Given the description of an element on the screen output the (x, y) to click on. 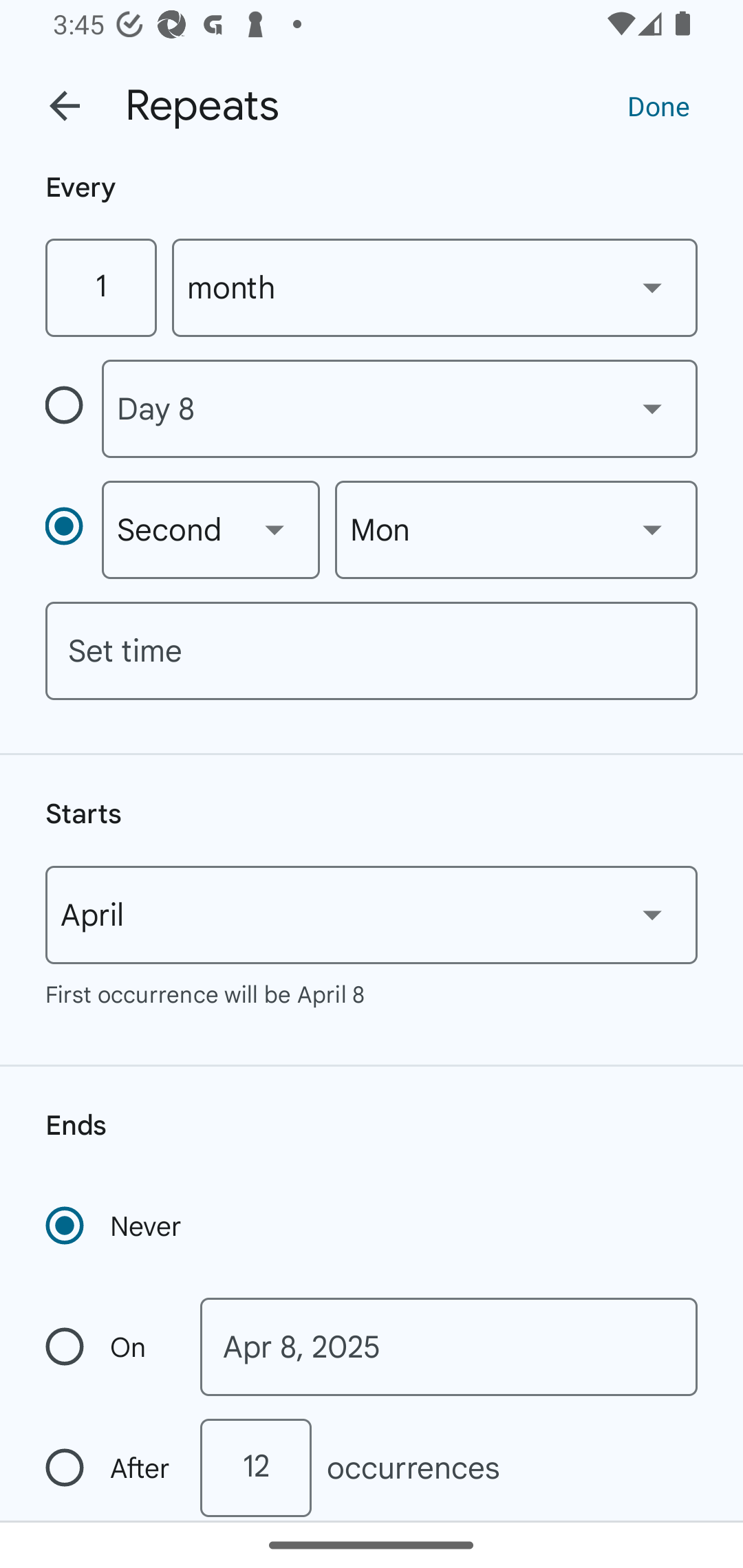
Back (64, 105)
Done (658, 105)
1 (100, 287)
month (434, 287)
Show dropdown menu (652, 286)
Day 8 (399, 408)
Show dropdown menu (652, 408)
Repeat monthly on a specific day of the month (73, 408)
Second (210, 529)
Mon (516, 529)
Show dropdown menu (274, 529)
Show dropdown menu (652, 529)
Repeat monthly on a specific weekday (73, 529)
Set time (371, 650)
April (371, 914)
Show dropdown menu (652, 913)
Never Recurrence never ends (115, 1225)
Apr 8, 2025 (448, 1346)
On Recurrence ends on a specific date (109, 1346)
12 (255, 1468)
